Given the description of an element on the screen output the (x, y) to click on. 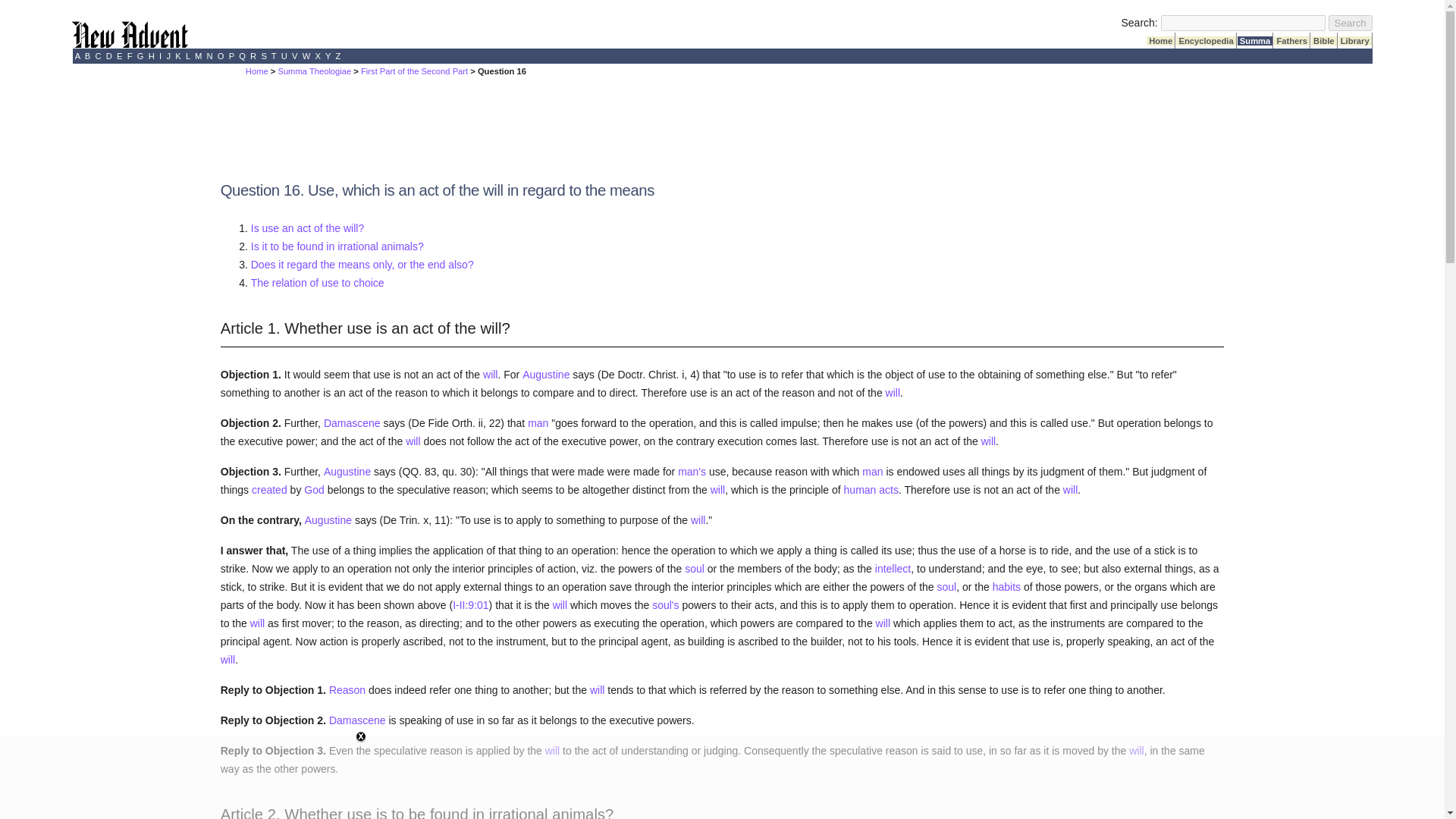
Is use an act of the will? (307, 227)
 Fathers  (1291, 40)
 Bible  (1323, 40)
 Q  (241, 55)
 R  (253, 55)
First Part of the Second Part (414, 71)
Summa Theologiae (314, 71)
Search (1350, 23)
 X  (318, 55)
 Z  (337, 55)
 Encyclopedia  (1205, 40)
 P  (231, 55)
 C  (98, 55)
 U  (284, 55)
 O  (221, 55)
